Given the description of an element on the screen output the (x, y) to click on. 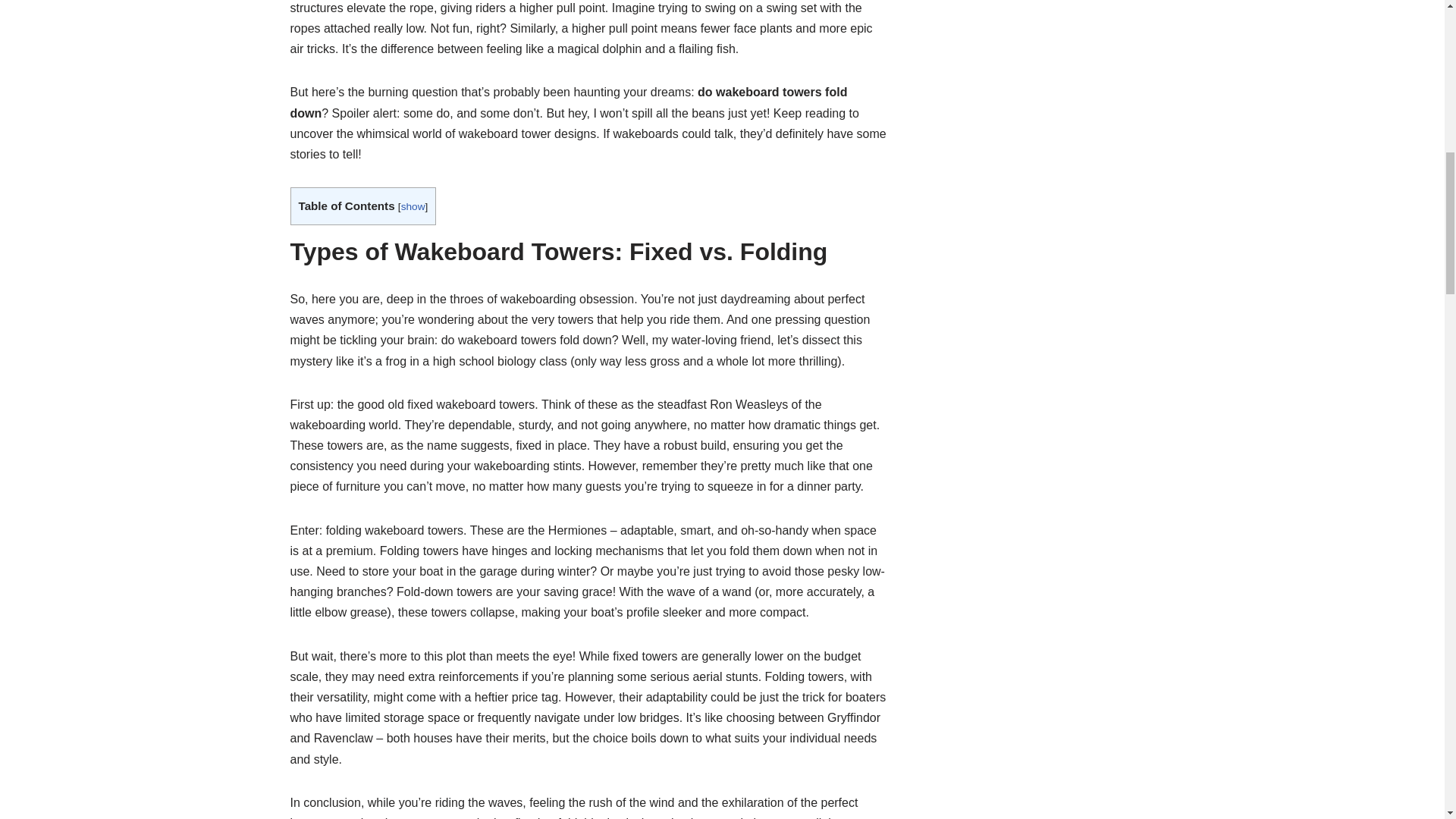
show (413, 206)
